Given the description of an element on the screen output the (x, y) to click on. 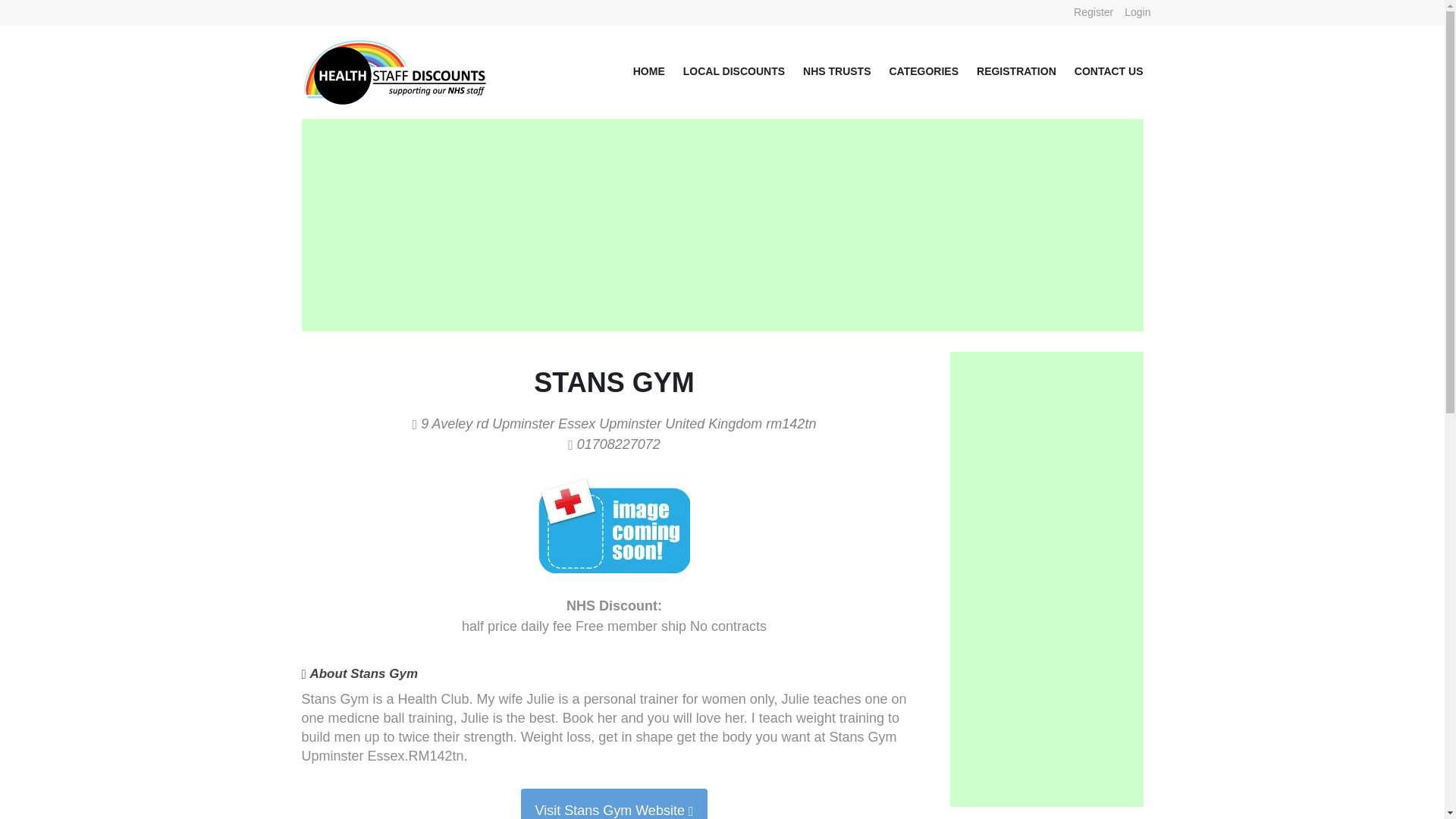
REGISTRATION (1007, 71)
Login (1137, 12)
HOME (639, 71)
CONTACT US (1099, 71)
NHS TRUSTS (827, 71)
Register (1093, 12)
Login (1137, 12)
CATEGORIES (914, 71)
Register (1093, 12)
LOCAL DISCOUNTS (724, 71)
Visit Stans Gym Website (613, 803)
Health Staff Discounts (396, 48)
